Given the description of an element on the screen output the (x, y) to click on. 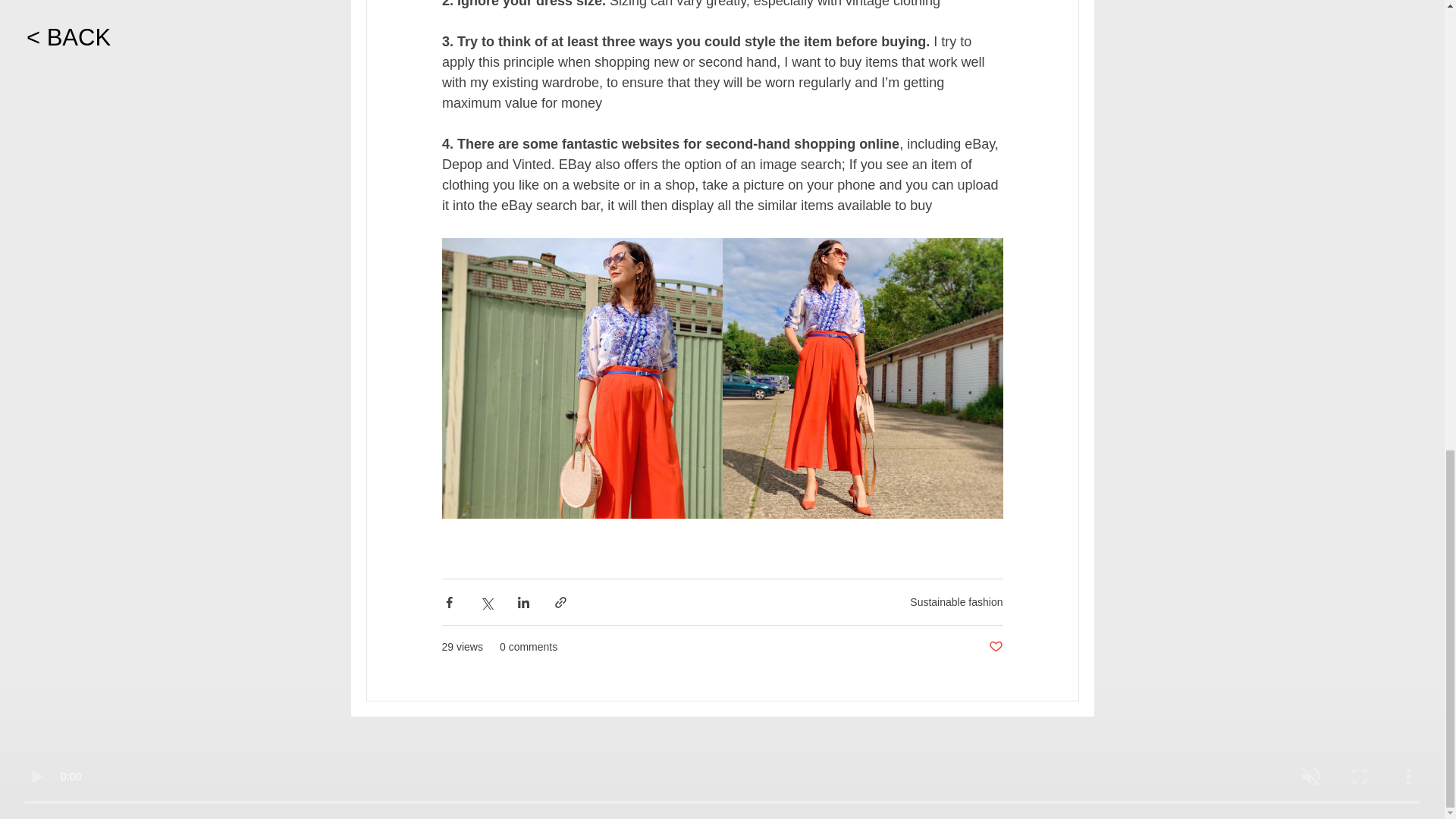
Sustainable fashion (956, 602)
Post not marked as liked (995, 647)
